Given the description of an element on the screen output the (x, y) to click on. 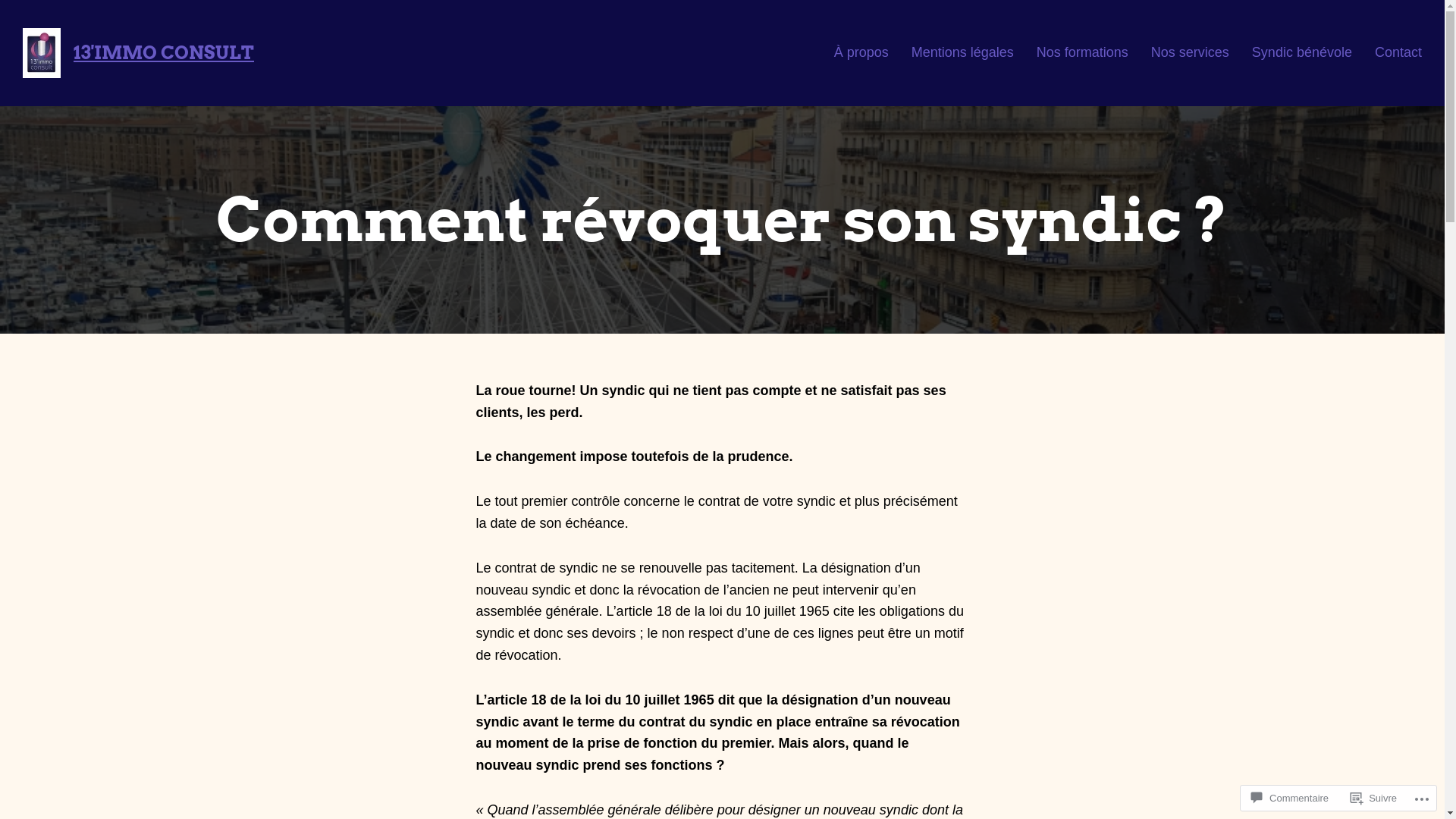
Nos services Element type: text (1190, 52)
Commentaire Element type: text (1289, 797)
Nos formations Element type: text (1082, 52)
13'IMMO CONSULT Element type: text (163, 52)
Suivre Element type: text (1373, 797)
Contact Element type: text (1397, 52)
